Given the description of an element on the screen output the (x, y) to click on. 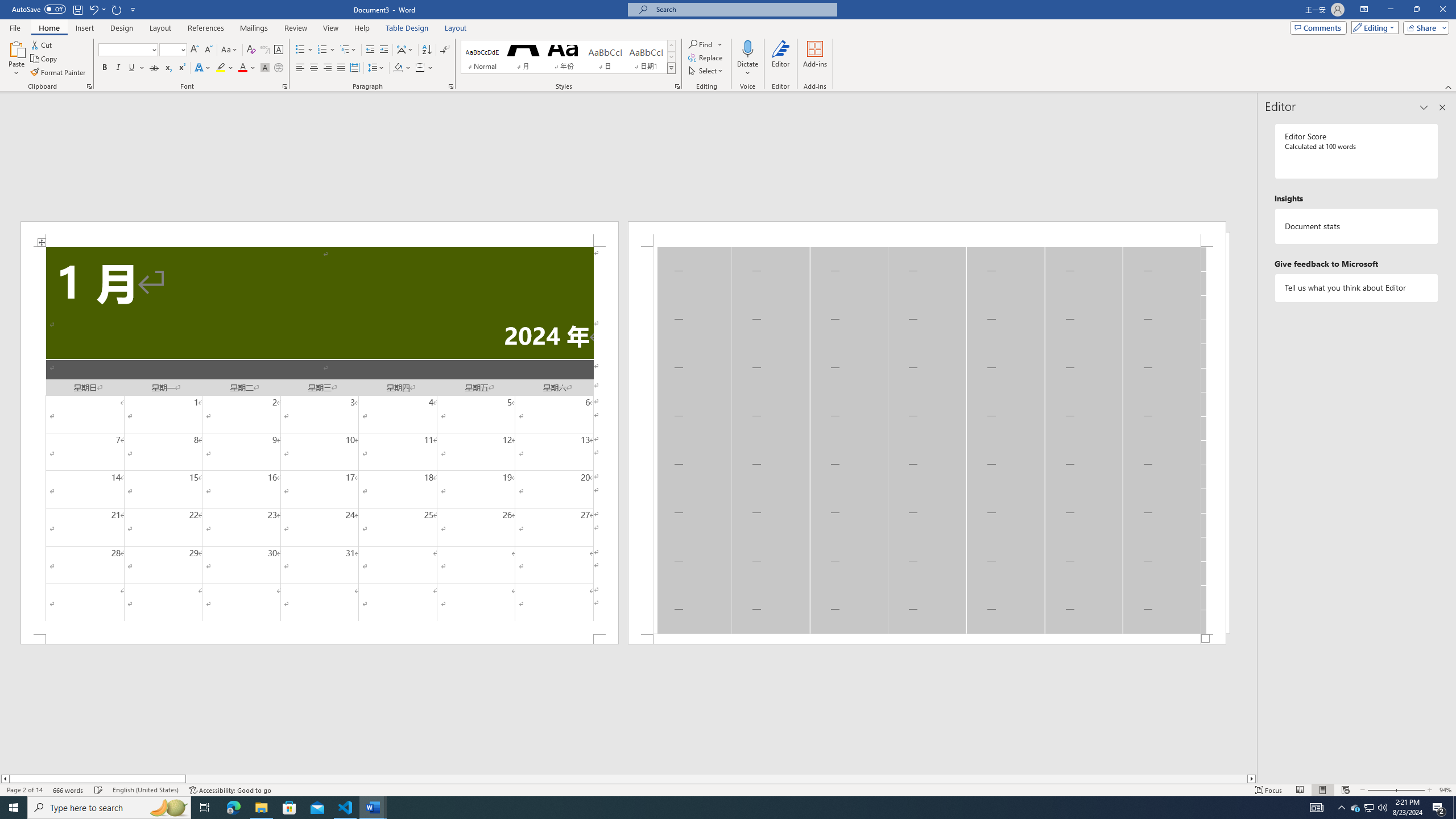
Styles... (676, 85)
Shrink Font (208, 49)
Text Highlight Color (224, 67)
Replace... (705, 56)
Bold (104, 67)
Tell us what you think about Editor (1356, 288)
Clear Formatting (250, 49)
Justify (340, 67)
Footer -Section 1- (926, 638)
Font Color (246, 67)
Mode (1372, 27)
